Given the description of an element on the screen output the (x, y) to click on. 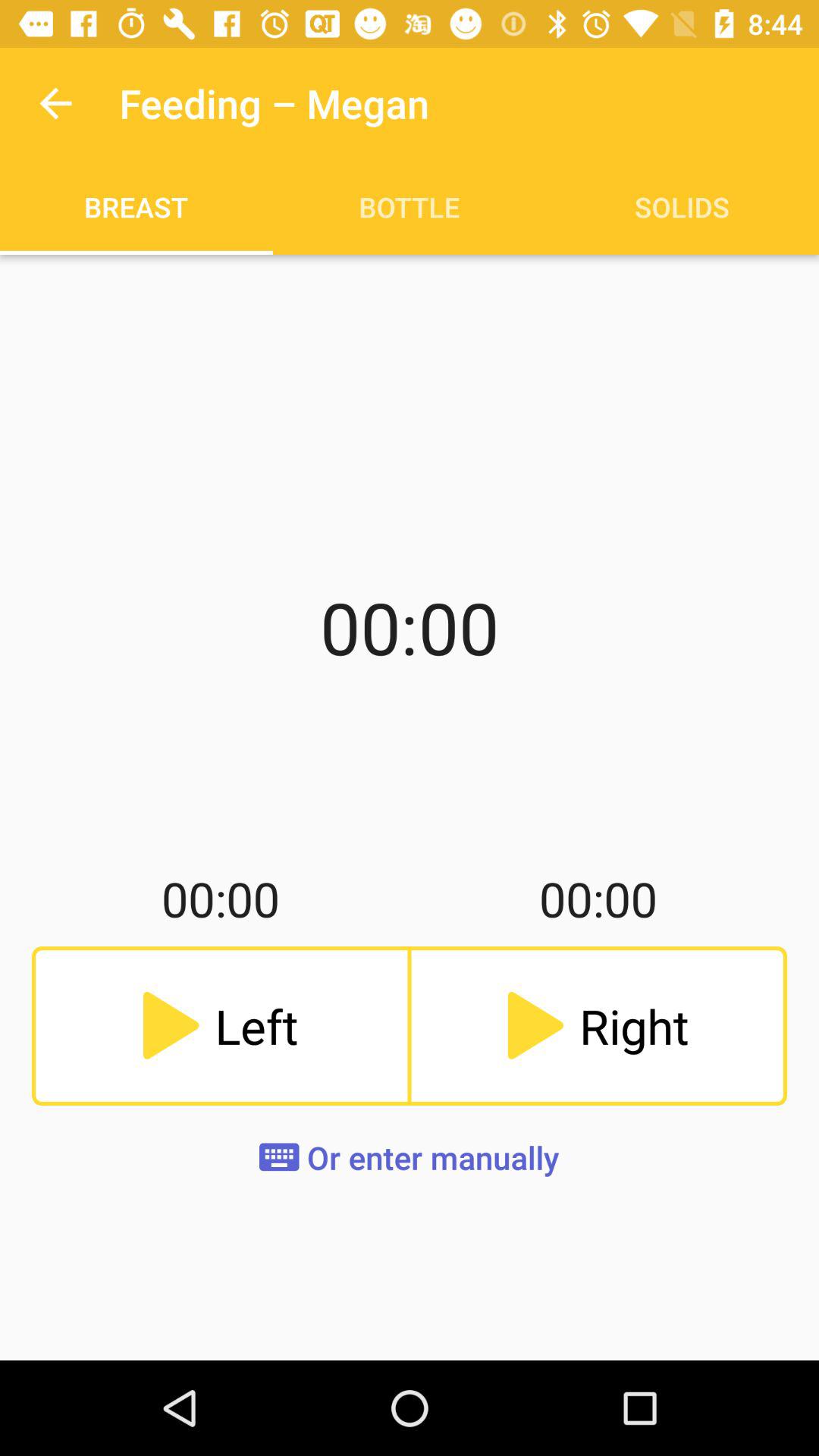
scroll until the or enter manually icon (408, 1157)
